Given the description of an element on the screen output the (x, y) to click on. 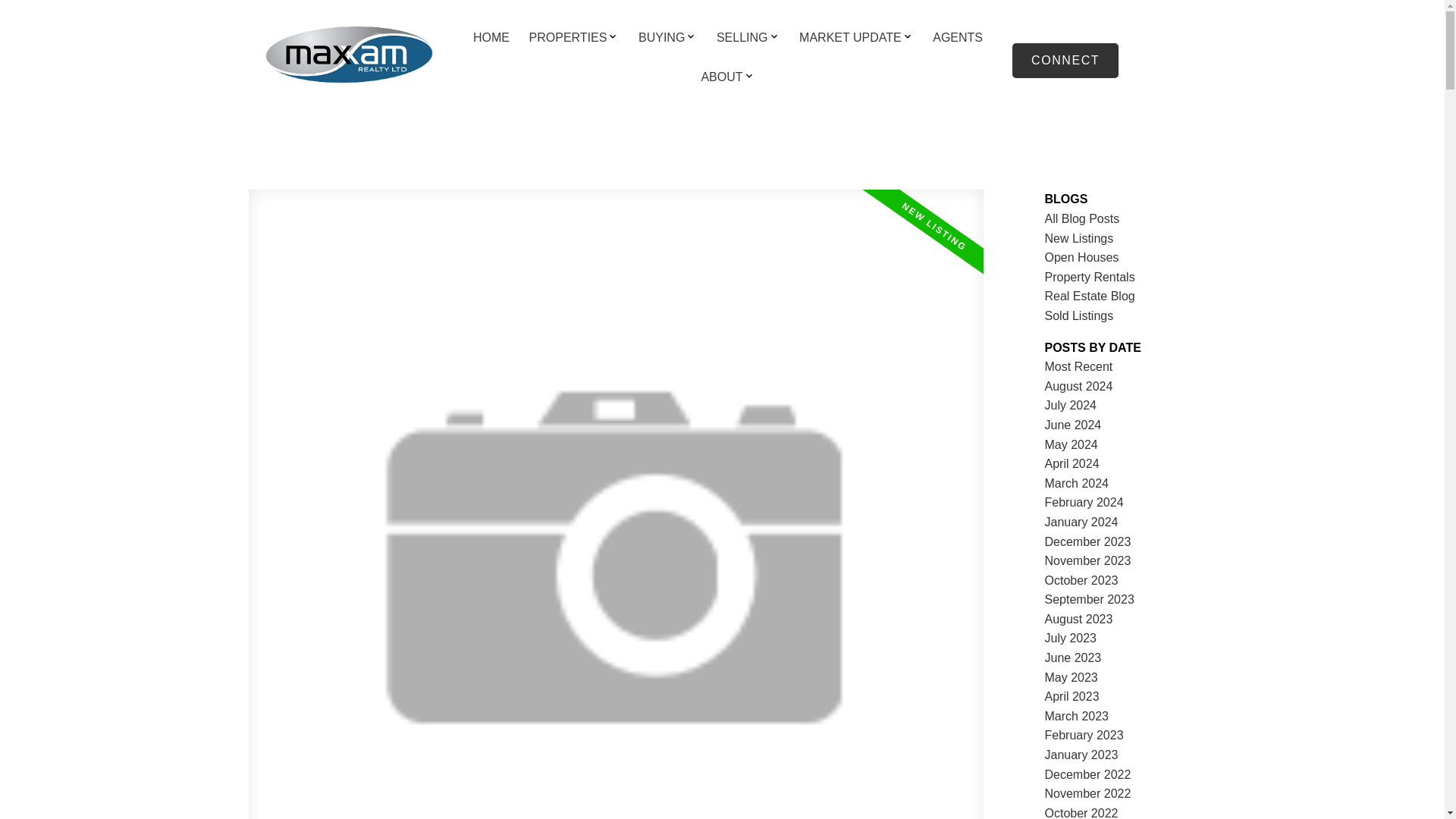
HOME (491, 37)
Open Houses (1082, 256)
June 2024 (1073, 424)
CONNECT (1064, 60)
SELLING (742, 37)
ABOUT (721, 77)
New Listings (1079, 237)
BUYING (661, 37)
August 2024 (1079, 386)
Real Estate Blog (1090, 295)
